Given the description of an element on the screen output the (x, y) to click on. 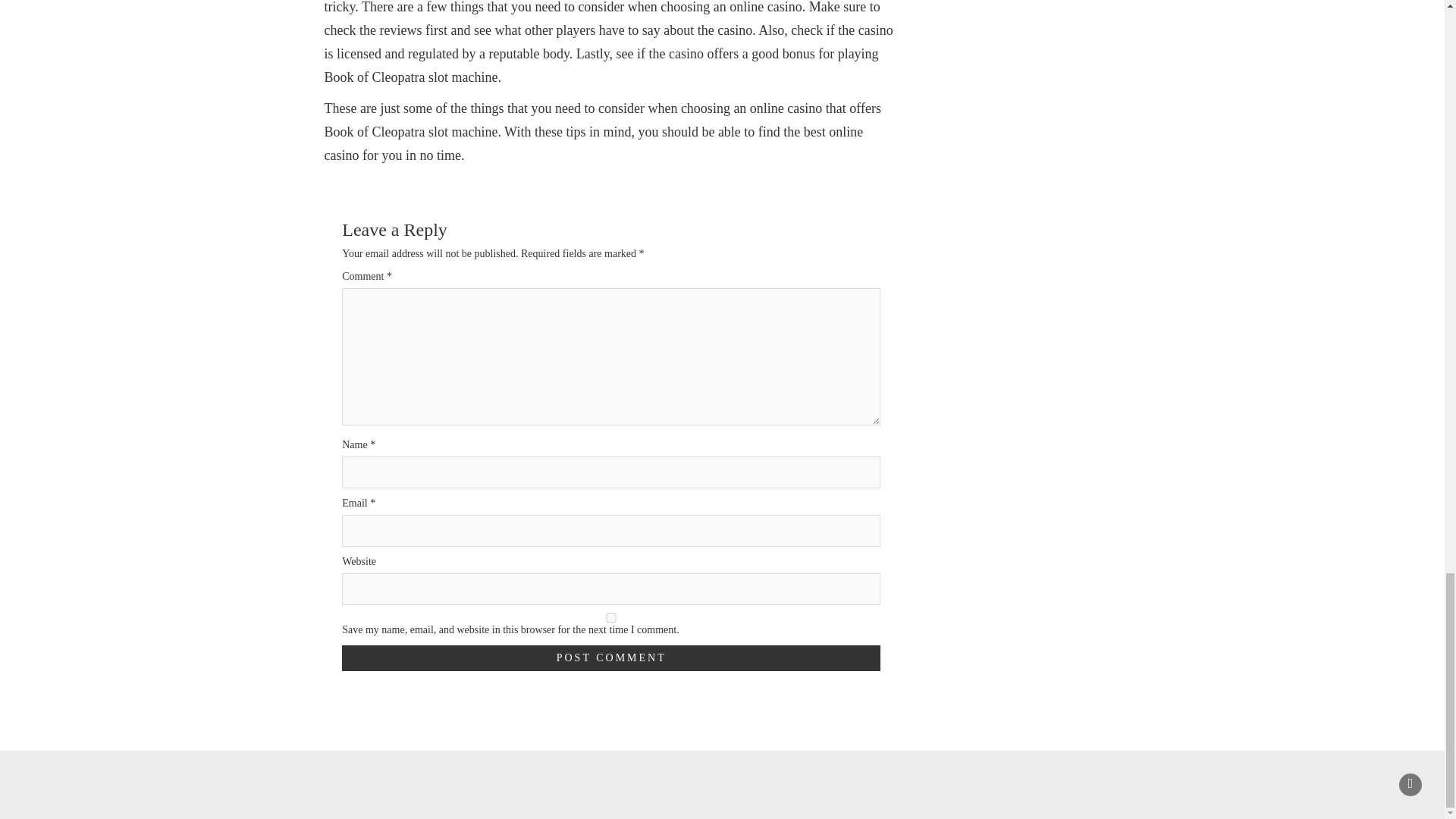
Post Comment (611, 657)
Post Comment (611, 657)
yes (611, 617)
